Given the description of an element on the screen output the (x, y) to click on. 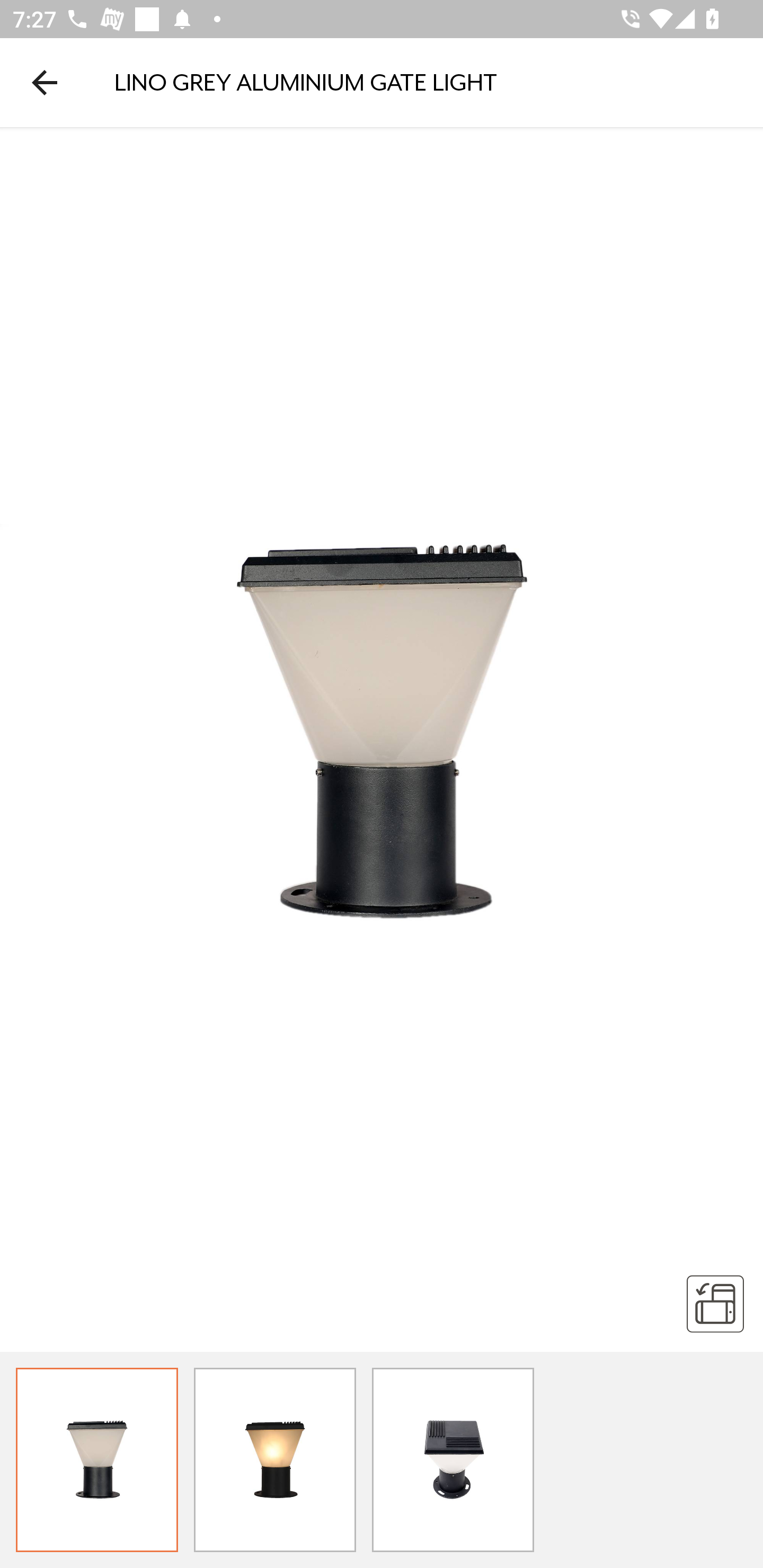
Navigate up (44, 82)
 (715, 1302)
